Given the description of an element on the screen output the (x, y) to click on. 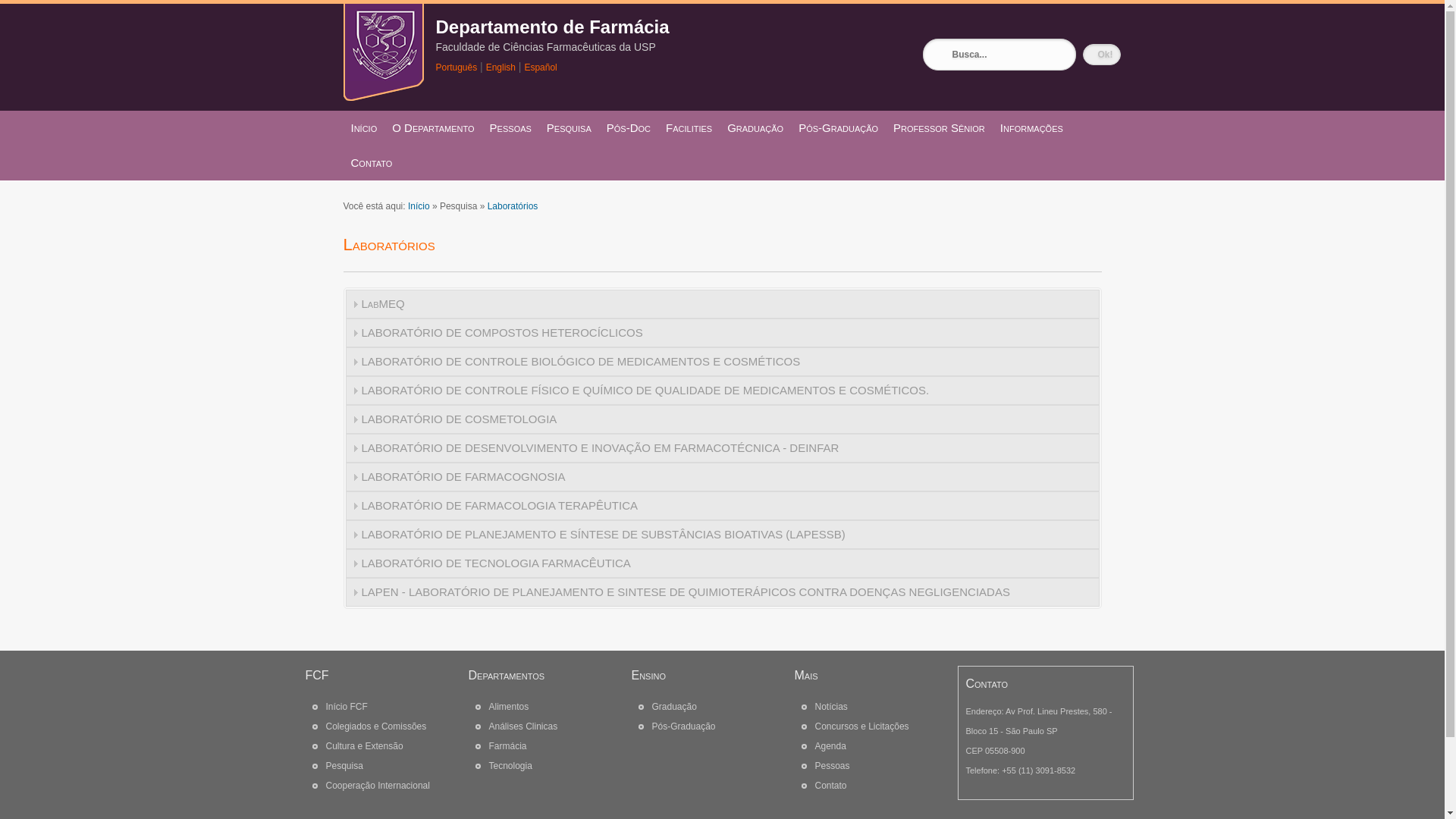
Agenda Element type: text (829, 745)
Facilities Element type: text (688, 127)
Tecnologia Element type: text (509, 765)
Alimentos Element type: text (508, 706)
Pessoas Element type: text (510, 127)
O Departamento Element type: text (432, 127)
Ok! Element type: text (1101, 54)
English Element type: text (500, 67)
Contato Element type: text (370, 162)
Pesquisa Element type: text (569, 127)
FCF USP Element type: hover (382, 97)
LabMEQ Element type: text (722, 303)
Pesquisa Element type: text (344, 765)
Contato Element type: text (830, 785)
Pessoas Element type: text (831, 765)
